Given the description of an element on the screen output the (x, y) to click on. 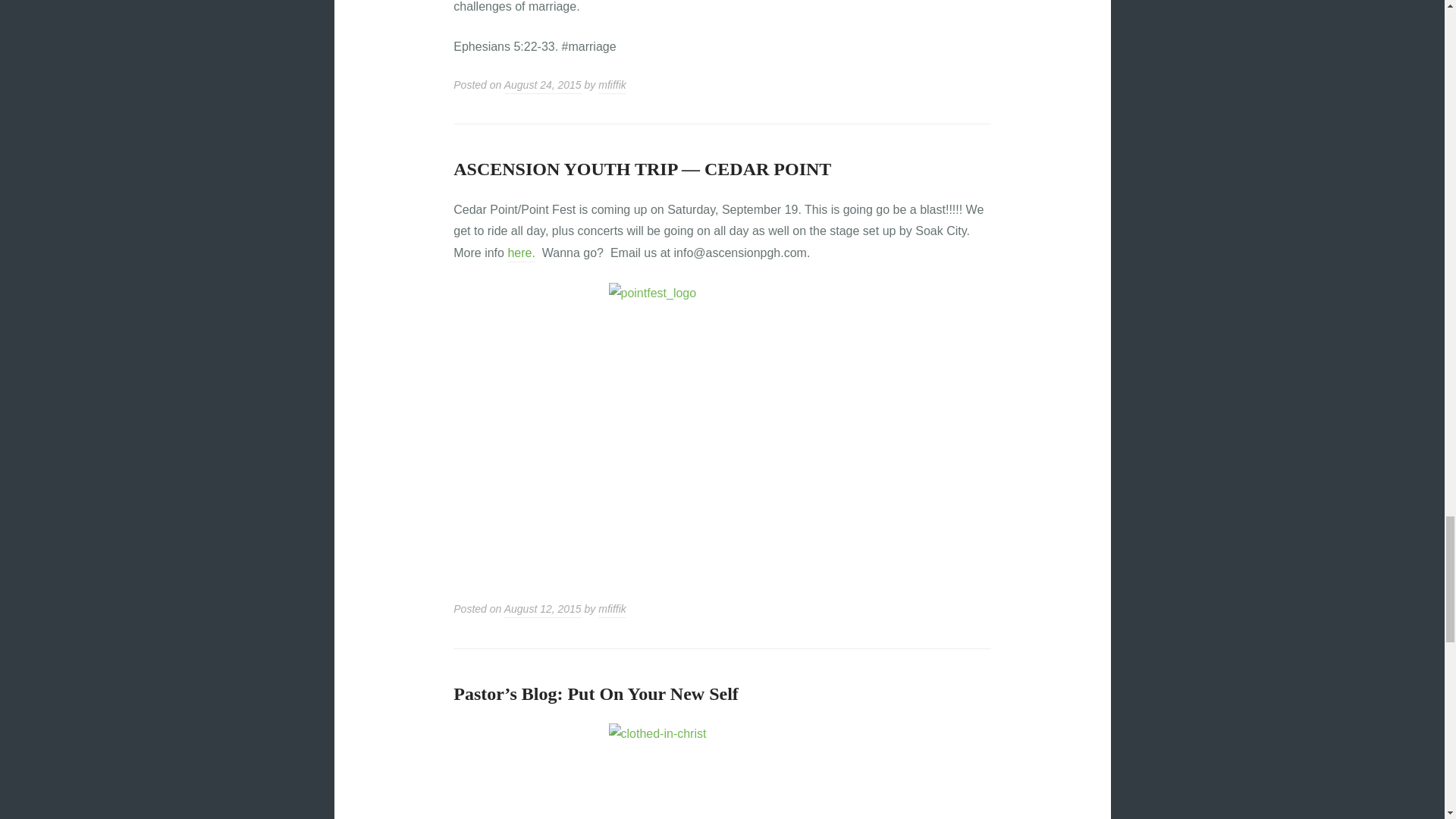
Updated on: August 12, 2015 (541, 610)
Updated on: August 24, 2015 (541, 86)
Point Fest Website (520, 254)
